Given the description of an element on the screen output the (x, y) to click on. 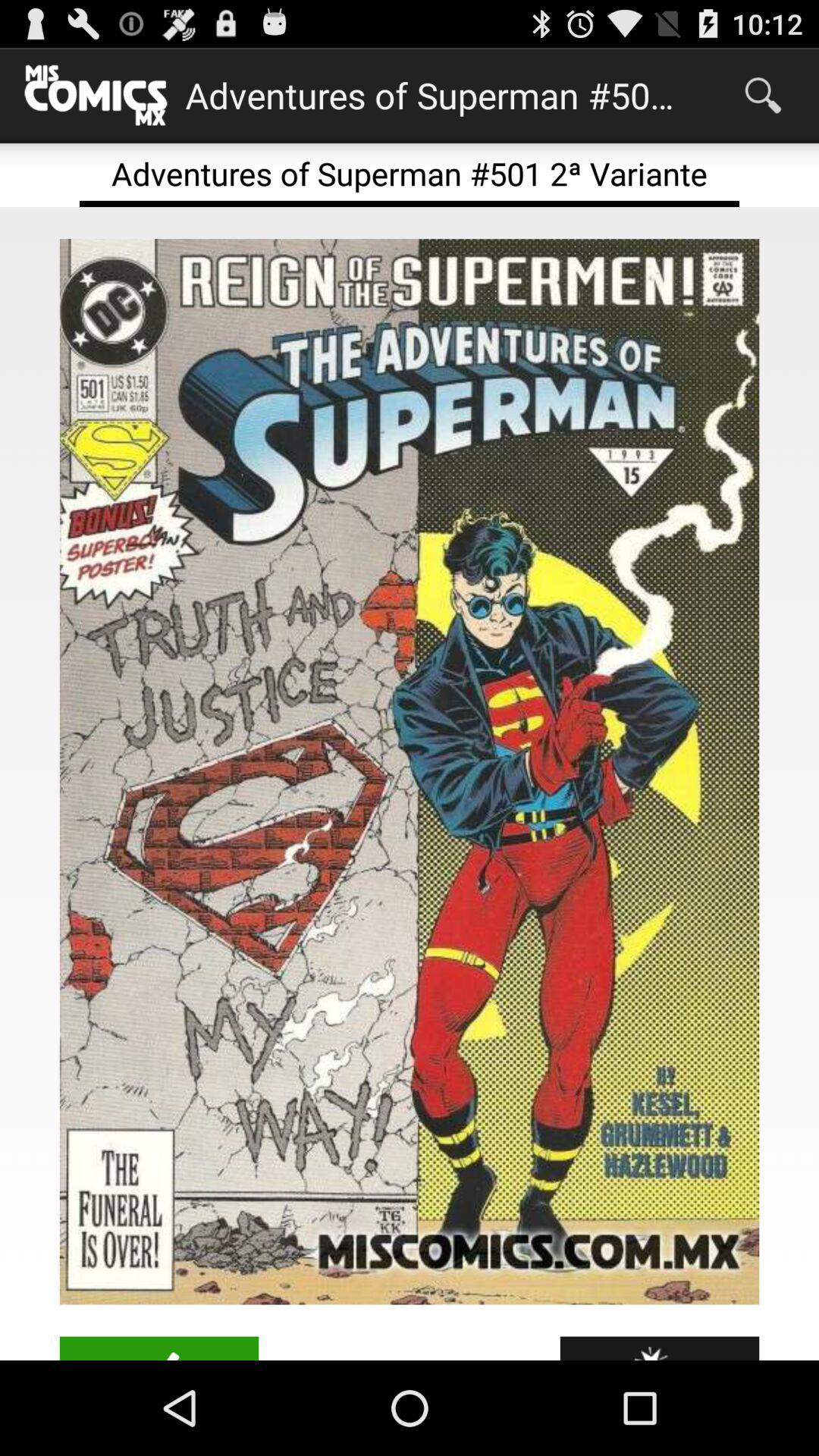
turn off app to the right of adventures of superman (763, 95)
